Given the description of an element on the screen output the (x, y) to click on. 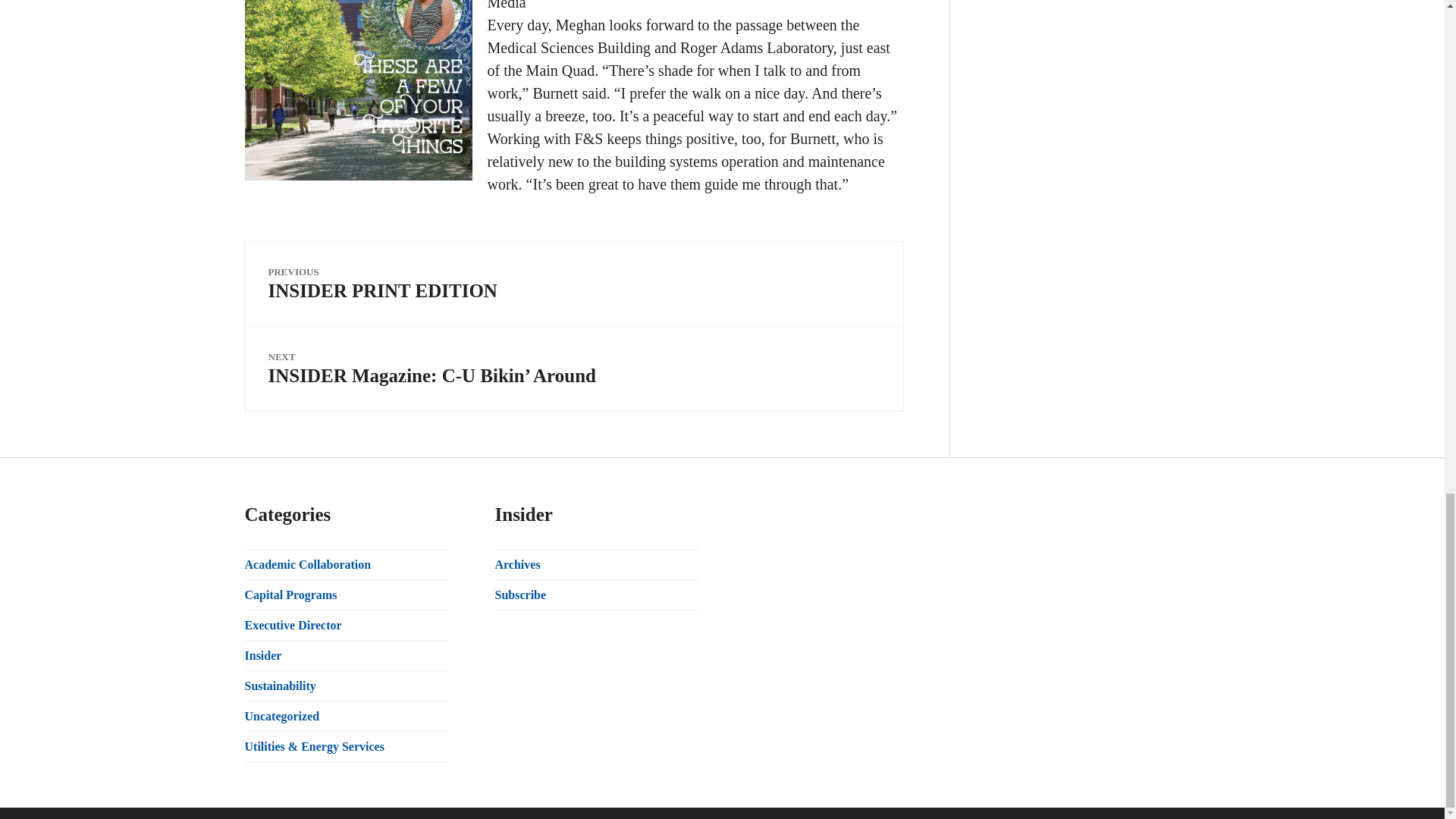
Shift-click to edit this widget. (596, 579)
